Given the description of an element on the screen output the (x, y) to click on. 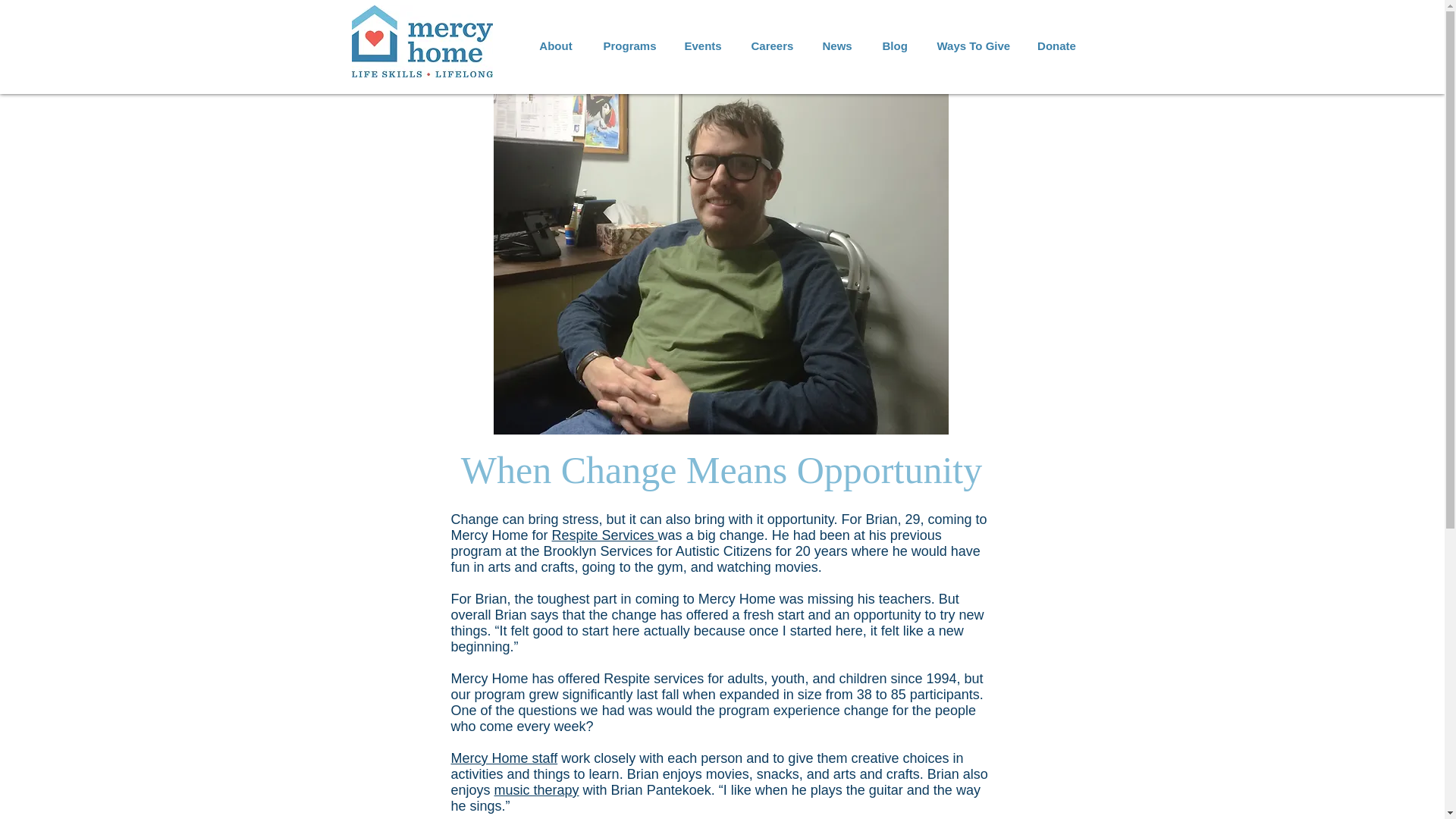
music therapy (537, 789)
Events (701, 45)
News (836, 45)
Careers (770, 45)
About (555, 45)
Blog (894, 45)
Donate (1057, 45)
Mercy Home staff (503, 758)
Respite Services (604, 534)
Programs (628, 45)
